Given the description of an element on the screen output the (x, y) to click on. 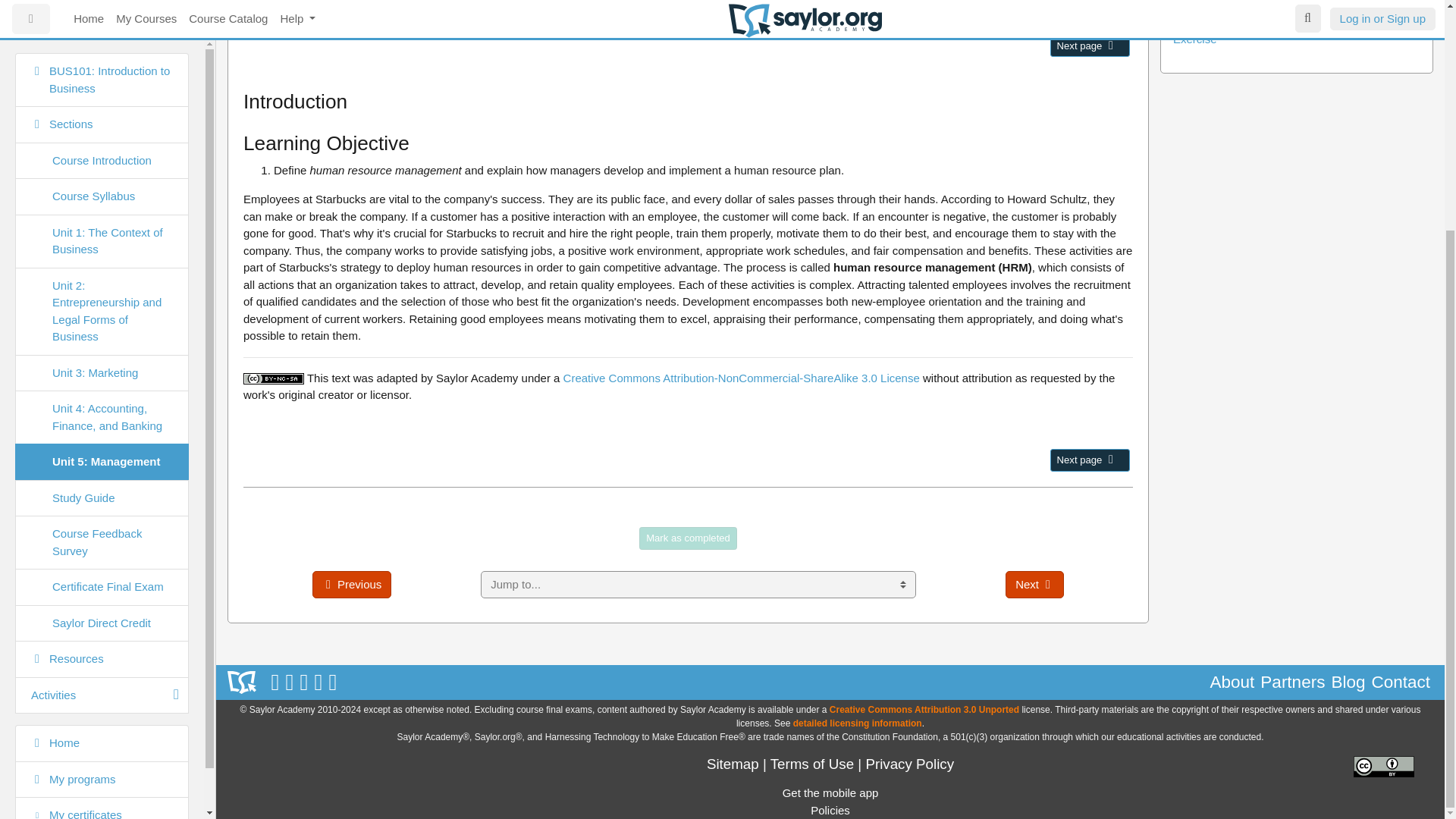
Next: Human Resource Planning (1089, 459)
Unit 4: Accounting, Finance, and Banking (101, 105)
Certificate Final Exam (101, 275)
Activities (101, 383)
Home (101, 431)
My certificates (101, 503)
Unit 5: Management (101, 149)
Resources (101, 347)
Next: Human Resource Planning (1110, 44)
Study Guide (101, 185)
Next: Human Resource Planning (1110, 459)
Course Feedback Survey (101, 230)
Unit 2: Entrepreneurship and Legal Forms of Business (101, 21)
Next: Human Resource Planning (1089, 45)
My programs (101, 467)
